Given the description of an element on the screen output the (x, y) to click on. 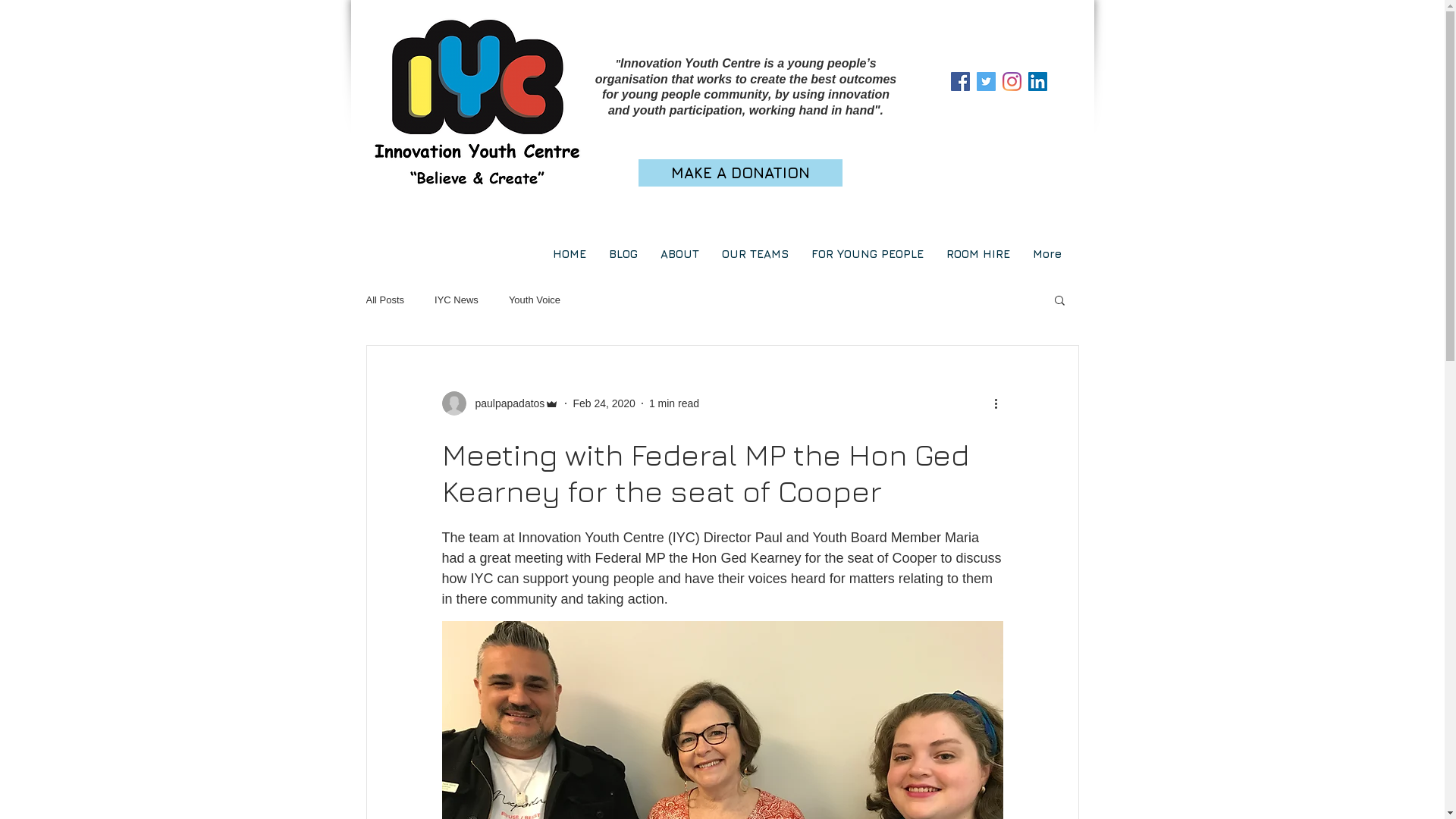
ABOUT Element type: text (679, 251)
IYC News Element type: text (456, 299)
All Posts Element type: text (384, 299)
Site Search Element type: hover (1002, 172)
MAKE A DONATION Element type: text (740, 172)
Youth Voice Element type: text (534, 299)
ROOM HIRE Element type: text (977, 251)
BLOG Element type: text (623, 251)
HOME Element type: text (569, 251)
